Given the description of an element on the screen output the (x, y) to click on. 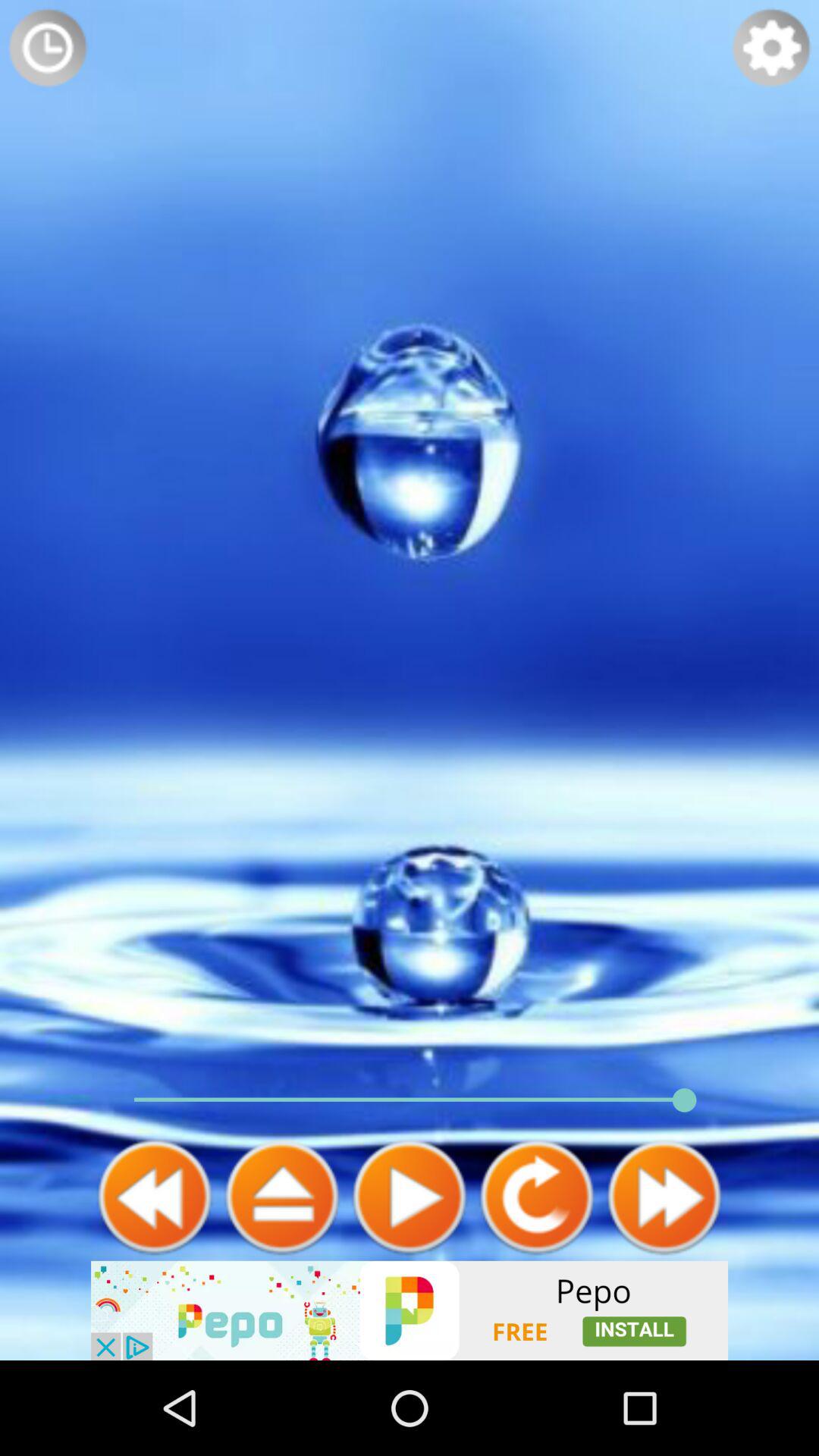
go to palely (409, 1196)
